Given the description of an element on the screen output the (x, y) to click on. 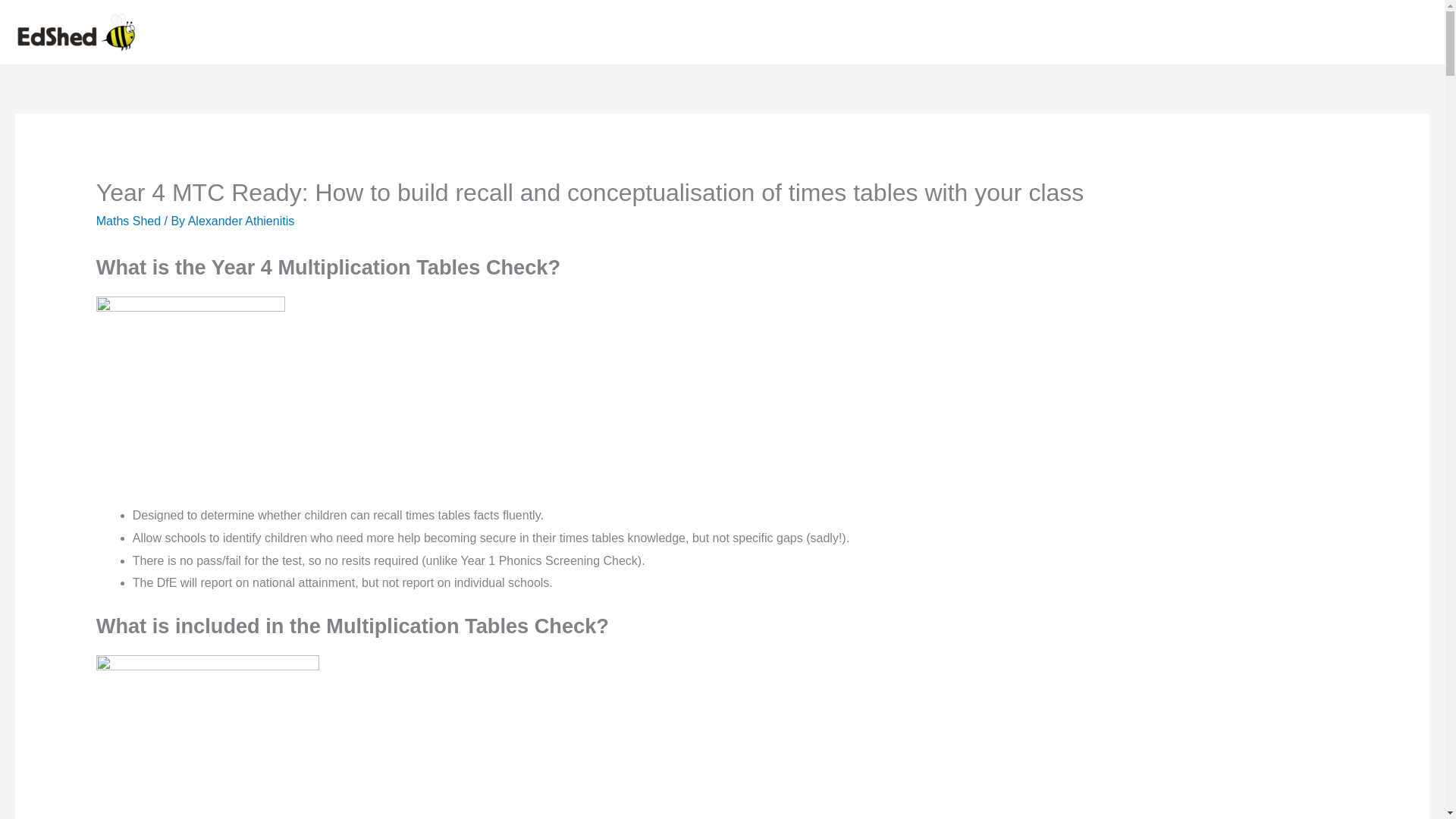
Maths Shed (128, 220)
View all posts by Alexander Athienitis (241, 220)
Alexander Athienitis (241, 220)
